Given the description of an element on the screen output the (x, y) to click on. 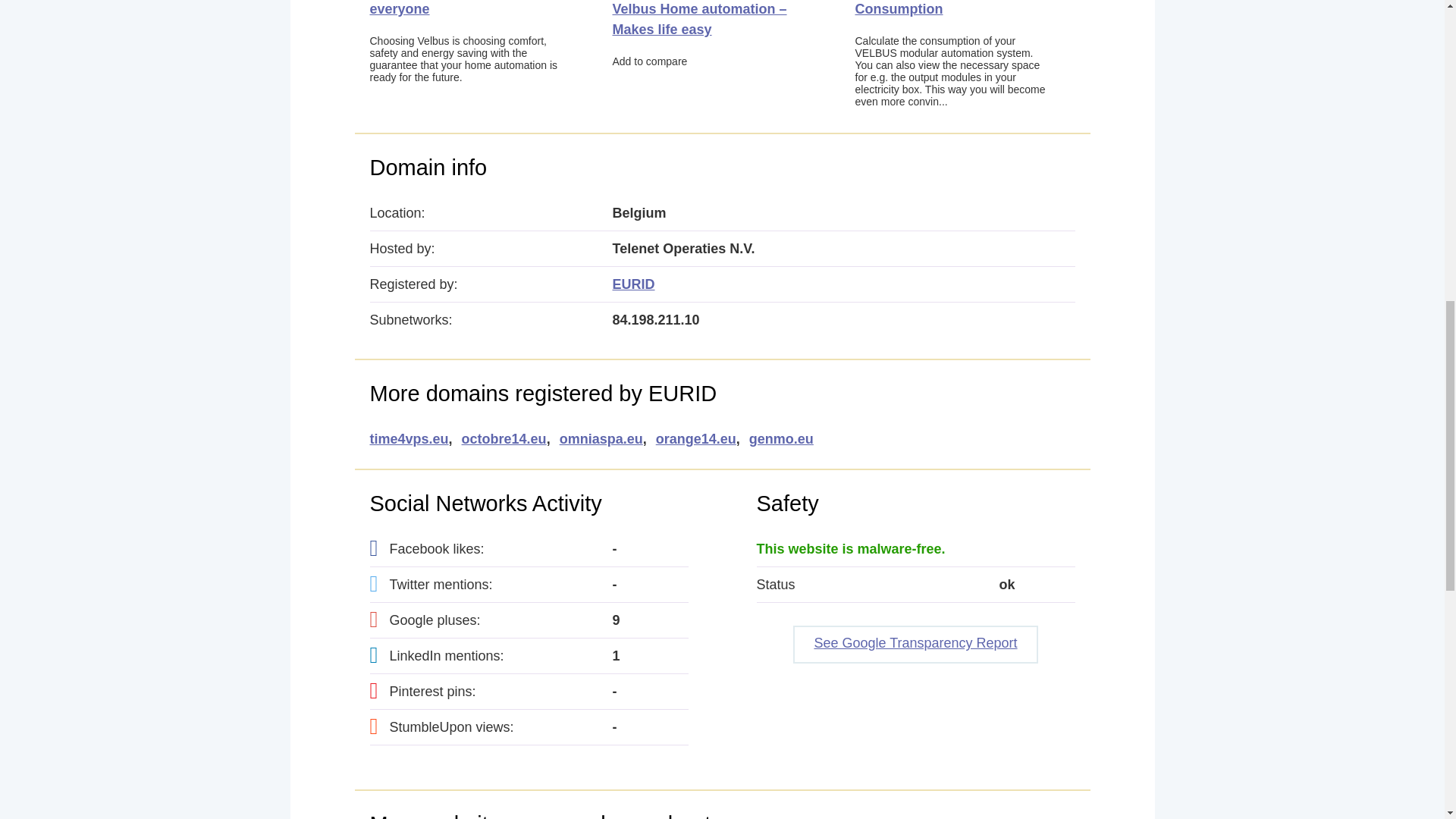
octobre14.eu (504, 439)
Velbus: Home Automation for everyone (464, 8)
Velbus - Professionals - Consumption (932, 8)
genmo.eu (781, 439)
EURID (633, 283)
orange14.eu (696, 439)
time4vps.eu (408, 439)
See Google Transparency Report (914, 644)
omniaspa.eu (601, 439)
